Given the description of an element on the screen output the (x, y) to click on. 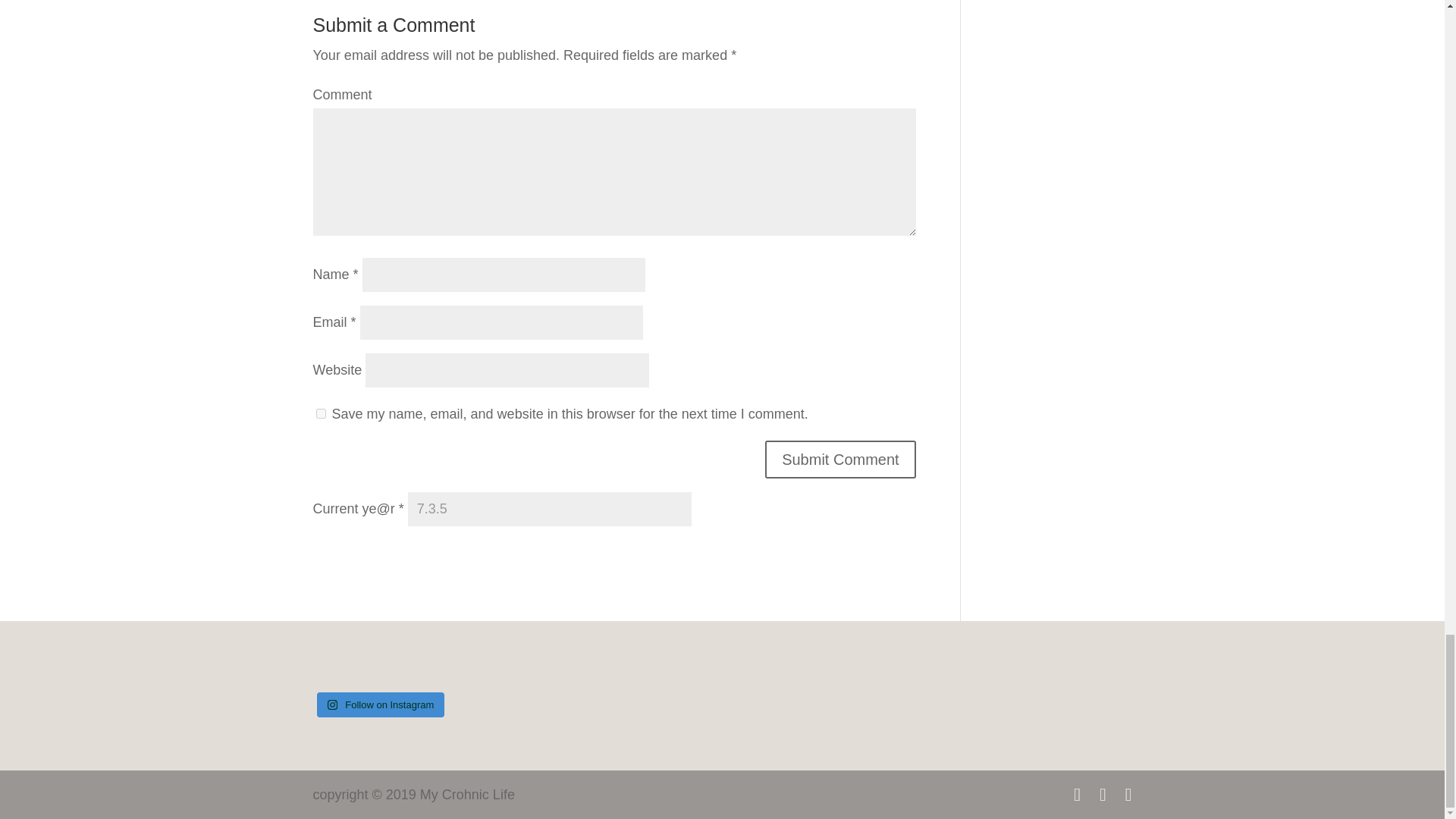
yes (319, 413)
Submit Comment (840, 459)
Submit Comment (840, 459)
7.3.5 (549, 509)
Follow on Instagram (381, 705)
